Given the description of an element on the screen output the (x, y) to click on. 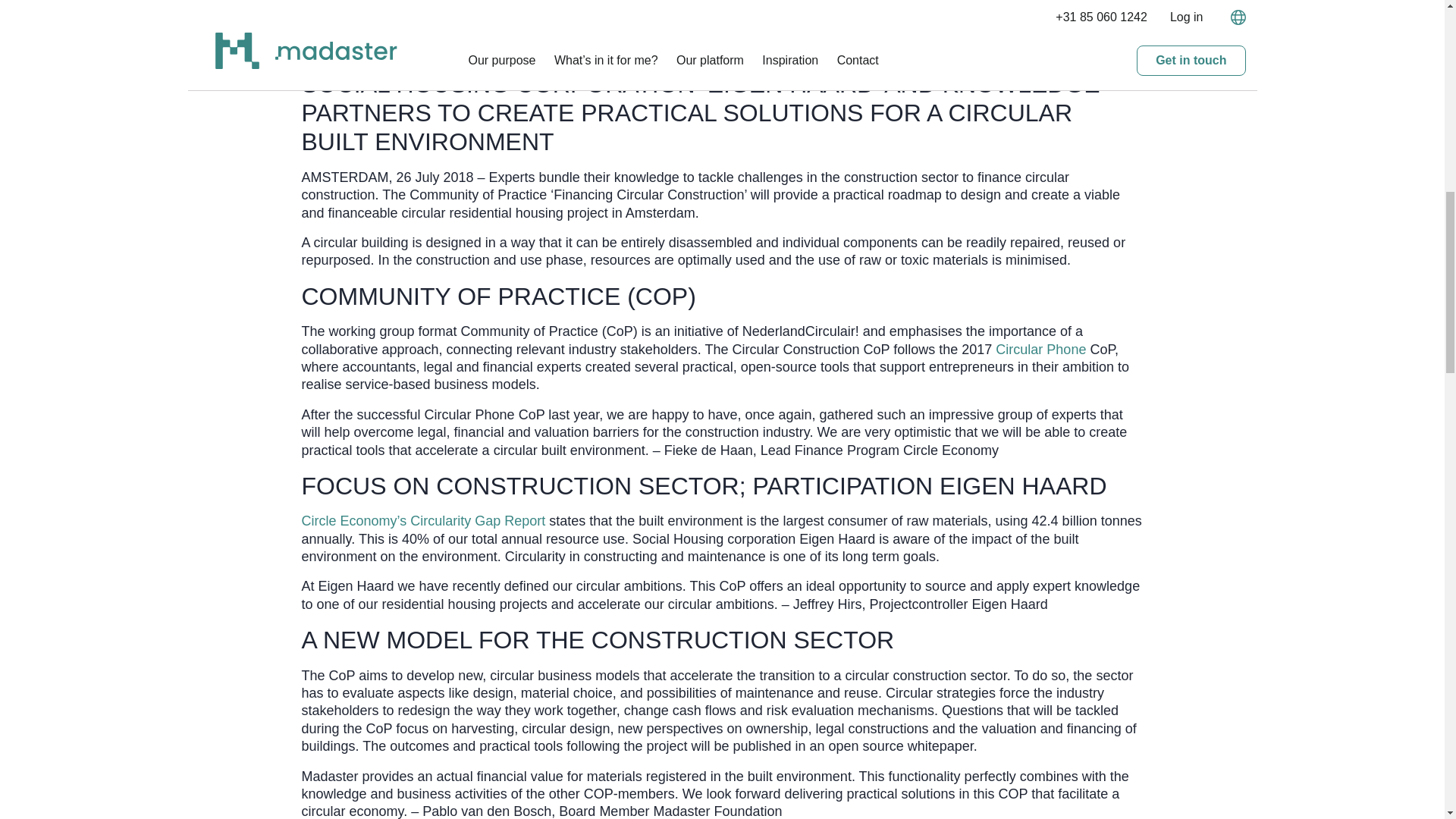
Circular Phone (1040, 349)
